Given the description of an element on the screen output the (x, y) to click on. 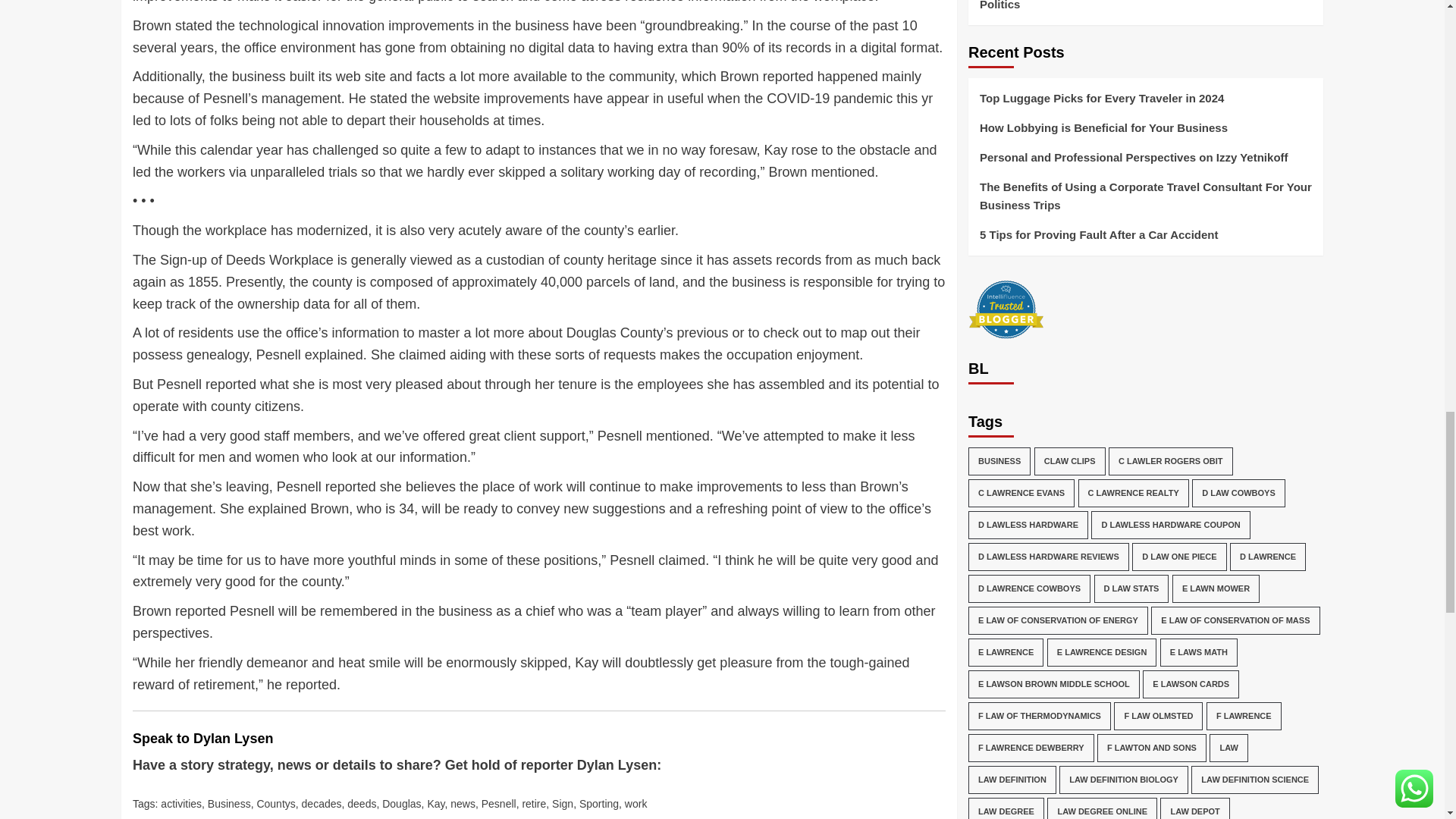
Business (229, 803)
Countys (275, 803)
Sign (562, 803)
deeds (361, 803)
decades (321, 803)
work (635, 803)
Sporting (598, 803)
Douglas (400, 803)
Kay (435, 803)
retire (533, 803)
